Given the description of an element on the screen output the (x, y) to click on. 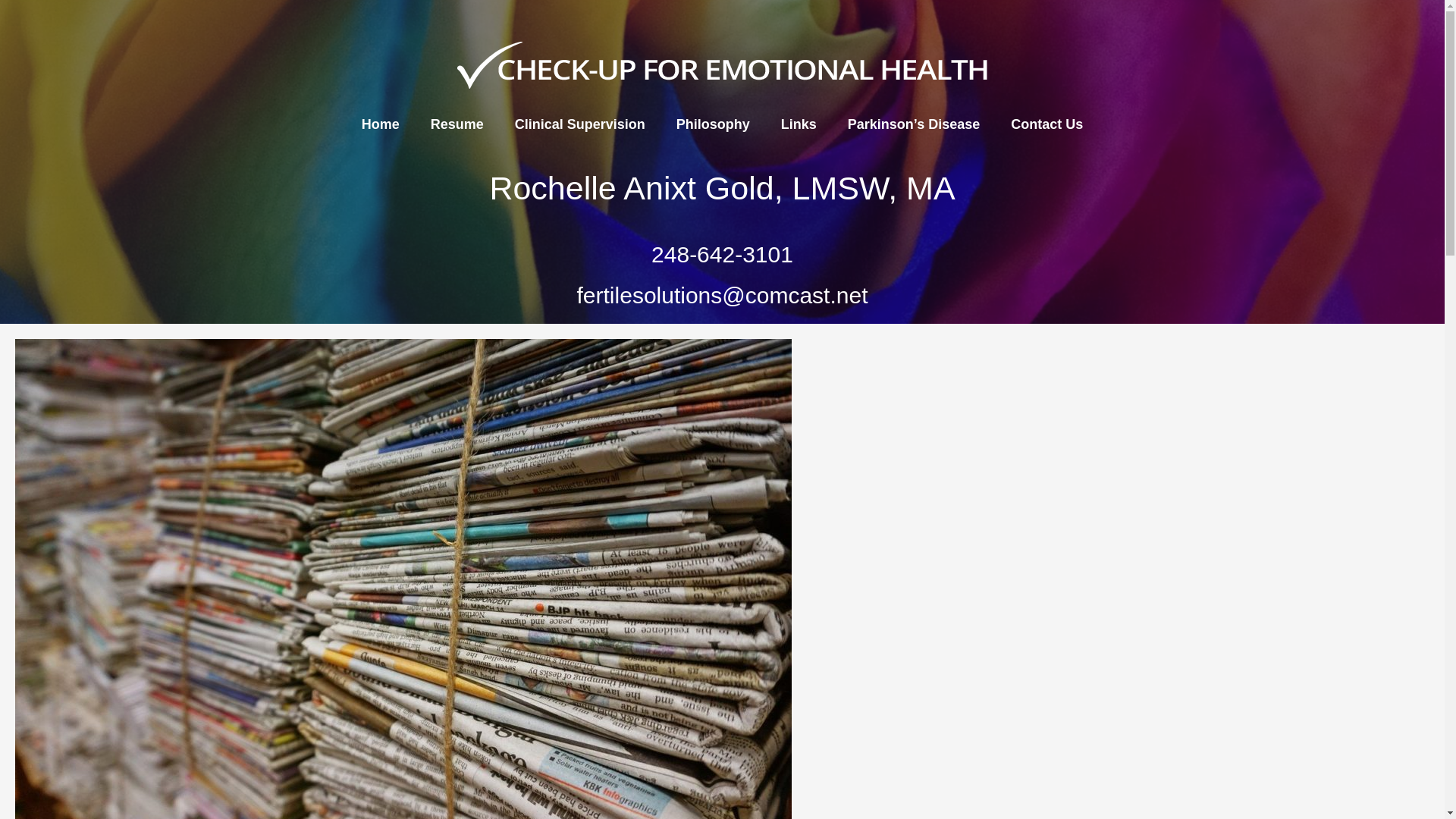
Resume (456, 124)
Contact Us (1047, 124)
Home (380, 124)
Clinical Supervision (580, 124)
Philosophy (713, 124)
Links (798, 124)
248-642-3101 (721, 253)
